Given the description of an element on the screen output the (x, y) to click on. 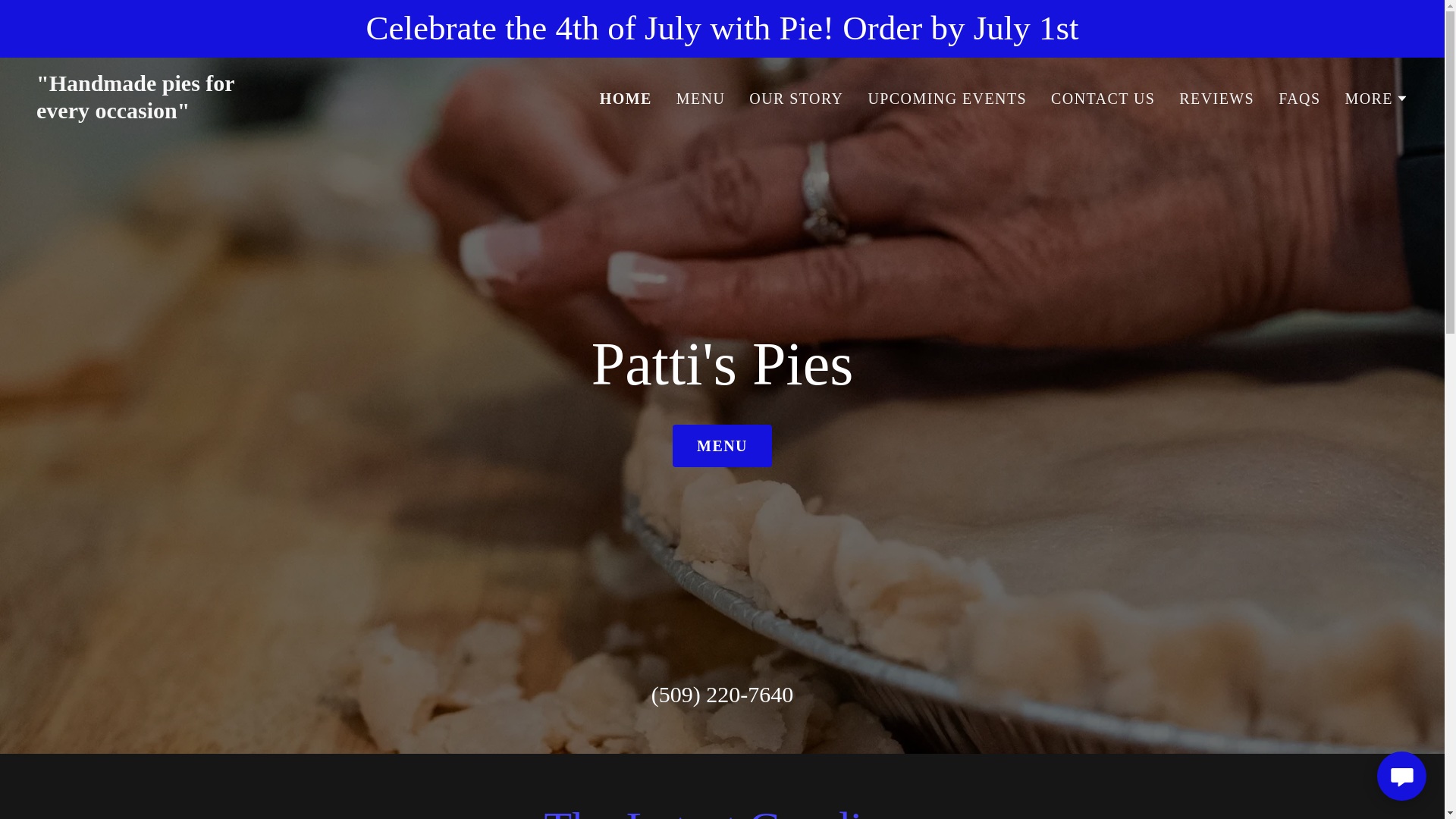
MENU (721, 445)
OUR STORY (795, 98)
REVIEWS (276, 112)
CONTACT US (1216, 98)
HOME (1102, 98)
UPCOMING EVENTS (625, 98)
MENU (946, 98)
FAQS (700, 98)
